Given the description of an element on the screen output the (x, y) to click on. 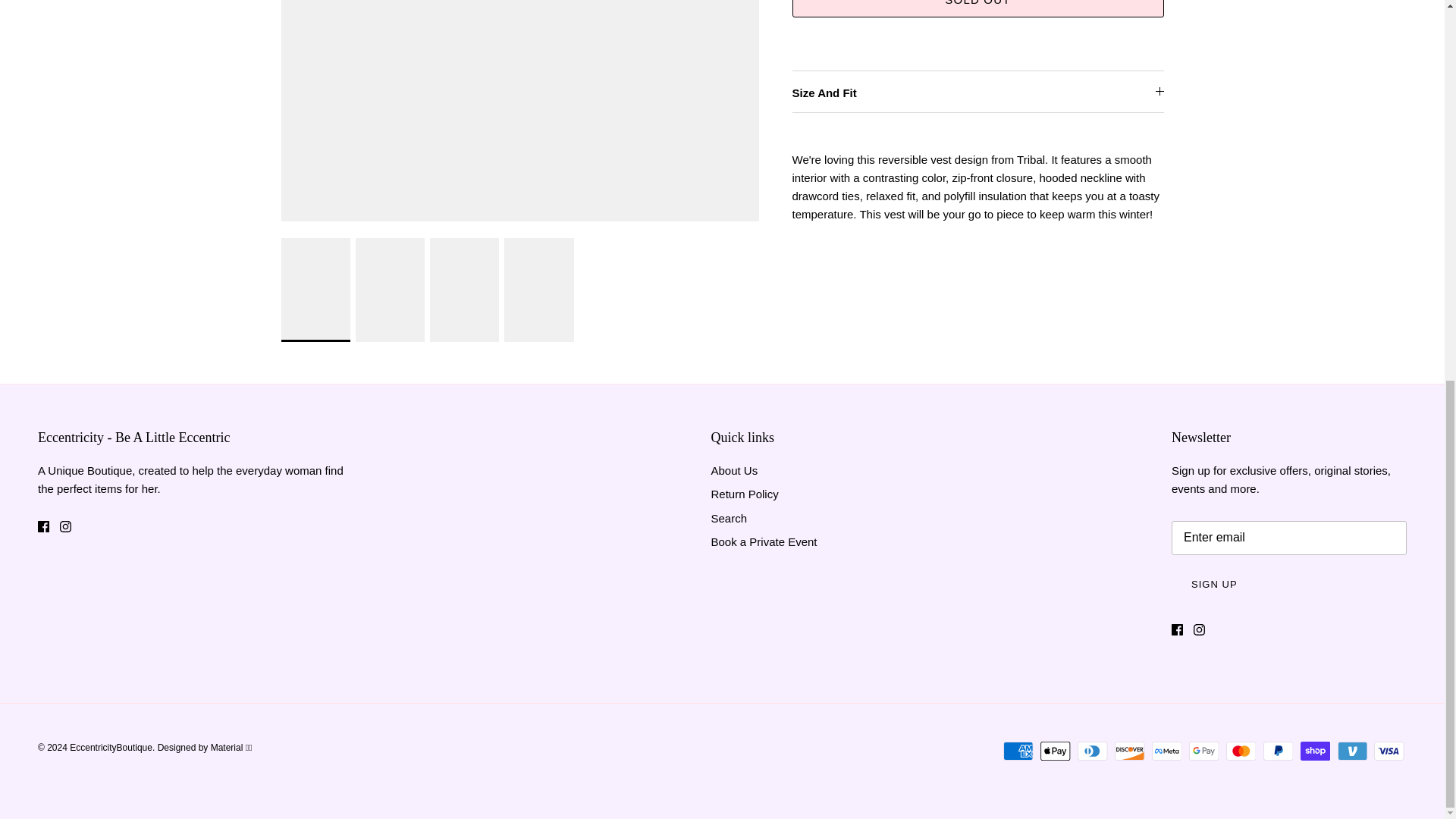
Facebook (43, 526)
Google Pay (1203, 751)
Mastercard (1240, 751)
American Express (1018, 751)
Apple Pay (1055, 751)
Shop Pay (1315, 751)
Facebook (1177, 629)
Diners Club (1092, 751)
Instagram (65, 526)
Instagram (1199, 629)
